Given the description of an element on the screen output the (x, y) to click on. 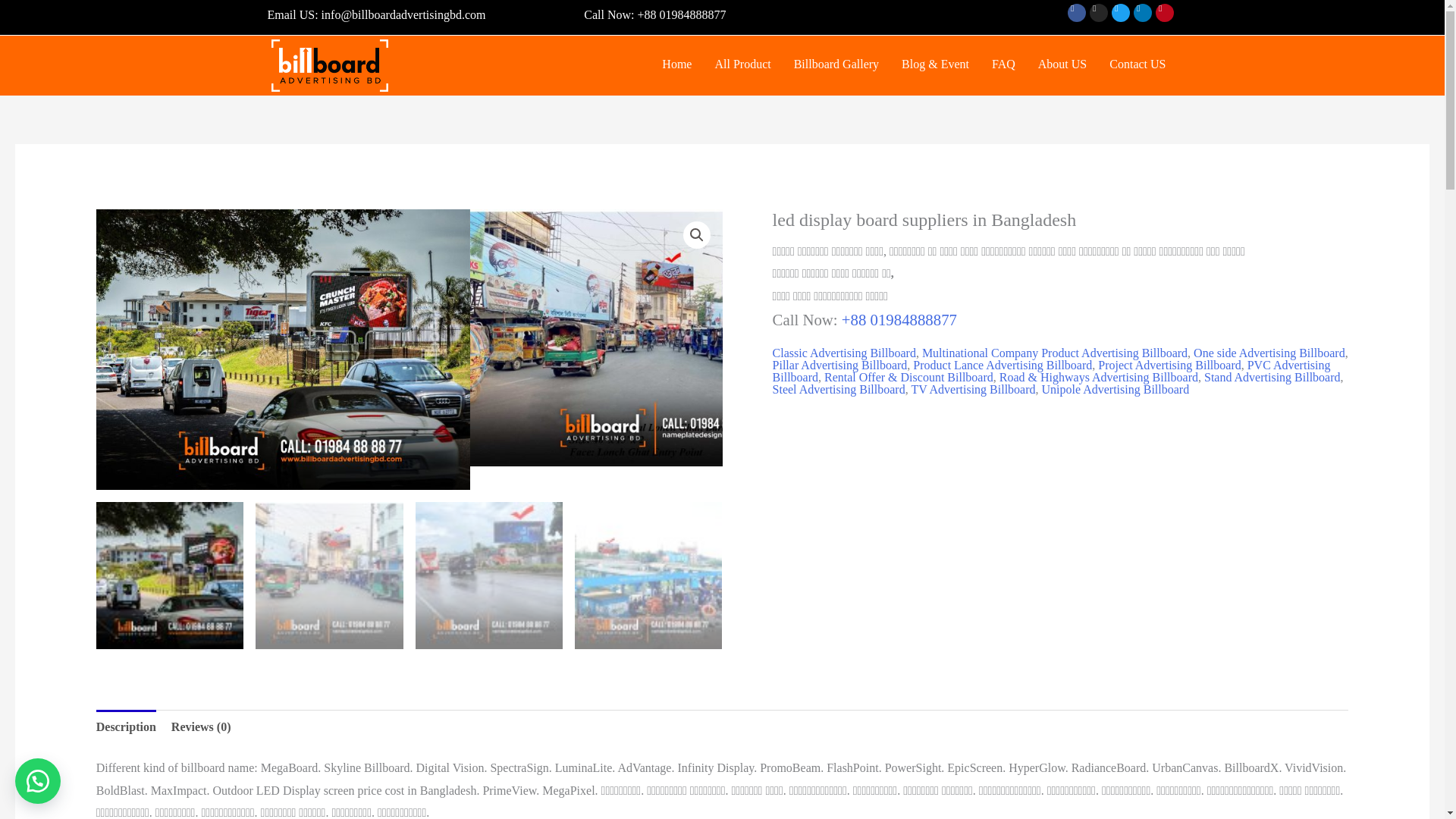
Project Advertising Billboard (1168, 364)
Product Lance Advertising Billboard (1002, 364)
One side Advertising Billboard (1269, 352)
Classic Advertising Billboard (844, 352)
Twitter (1120, 13)
Linkedin (1142, 13)
Home (676, 63)
Multinational Company Product Advertising Billboard (1054, 352)
Pillar Advertising Billboard (840, 364)
Billboard Gallery (836, 63)
Instagram (1098, 13)
Facebook (1076, 13)
About US (1061, 63)
Pinterest (1164, 13)
All Product (742, 63)
